Given the description of an element on the screen output the (x, y) to click on. 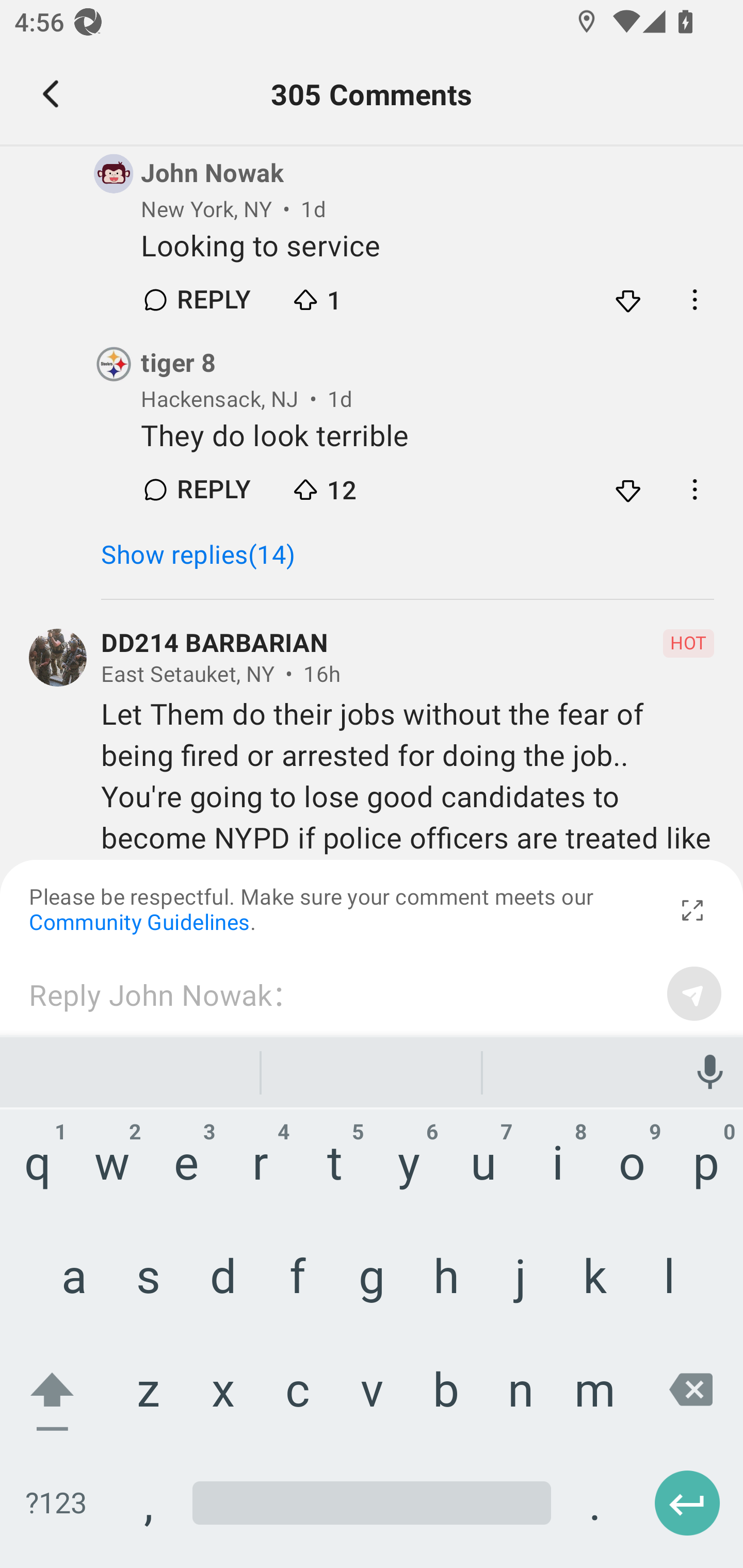
Reply John Nowak： (340, 992)
